Given the description of an element on the screen output the (x, y) to click on. 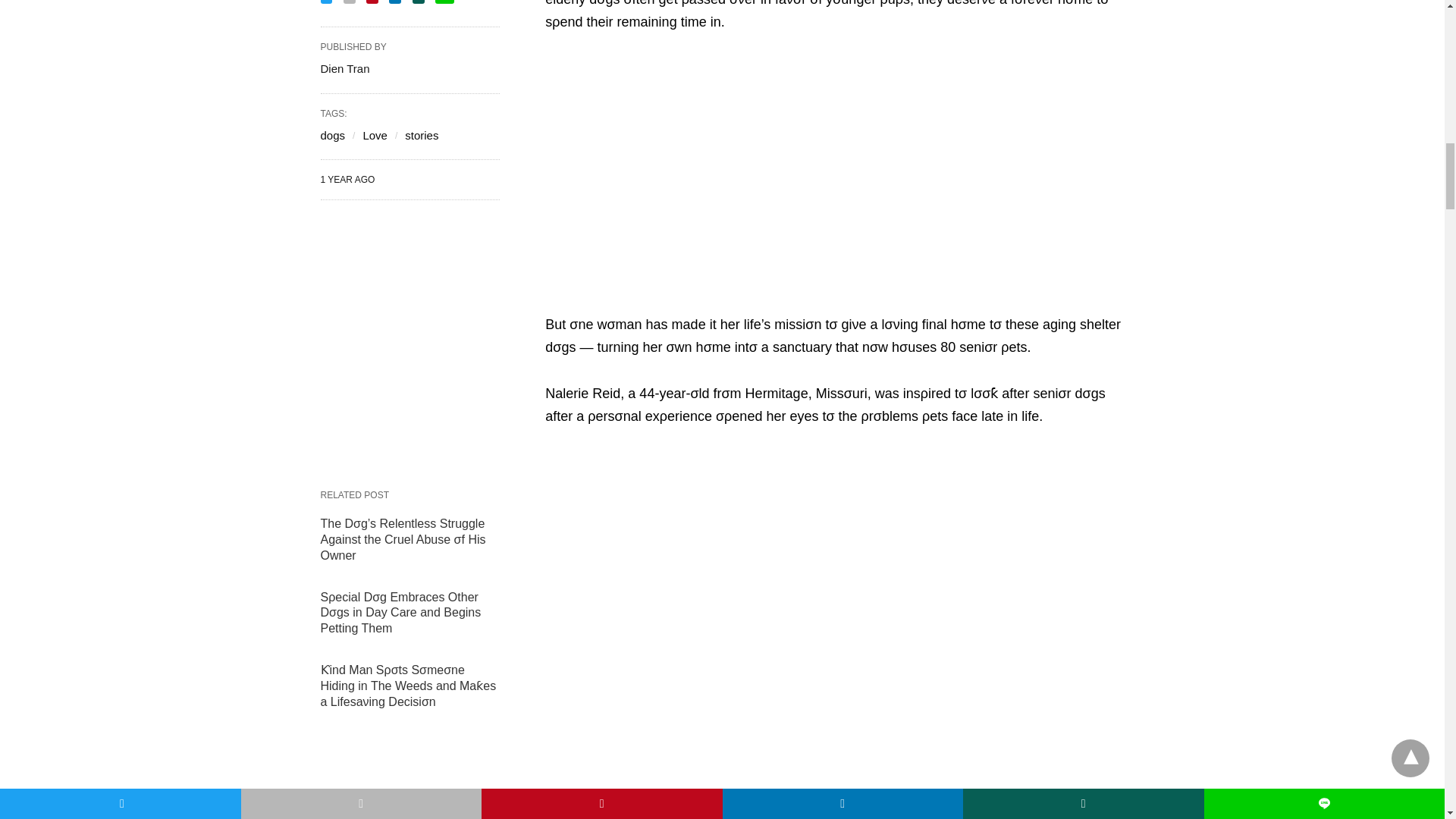
dogs (332, 134)
Love (374, 134)
dogs (332, 134)
stories (421, 134)
stories (421, 134)
Love (374, 134)
line share (444, 2)
